Given the description of an element on the screen output the (x, y) to click on. 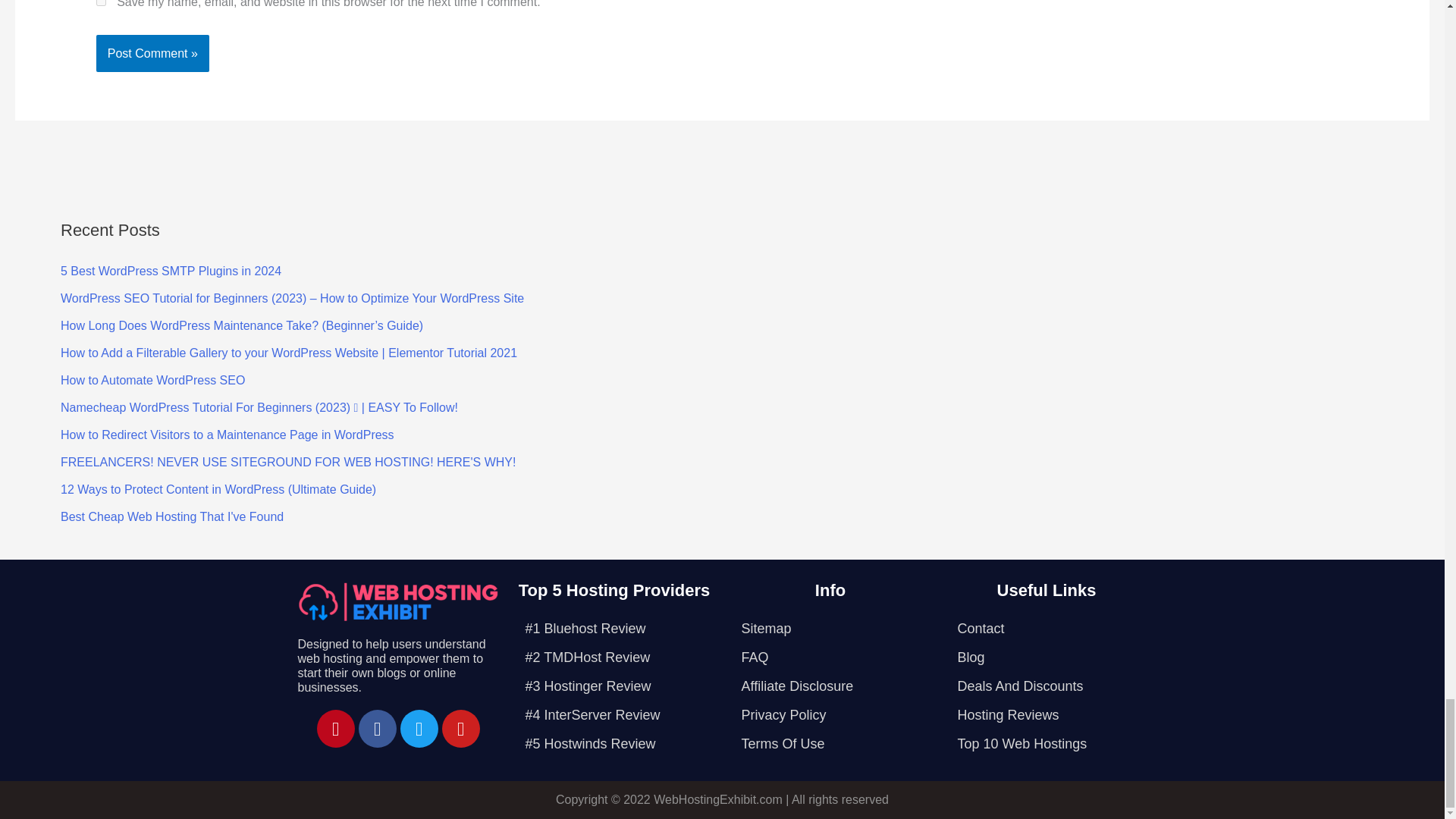
How to Redirect Visitors to a Maintenance Page in WordPress (227, 434)
yes (101, 2)
5 Best WordPress SMTP Plugins in 2024 (171, 270)
Best Cheap Web Hosting That I've Found (172, 516)
How to Automate WordPress SEO (152, 379)
